Given the description of an element on the screen output the (x, y) to click on. 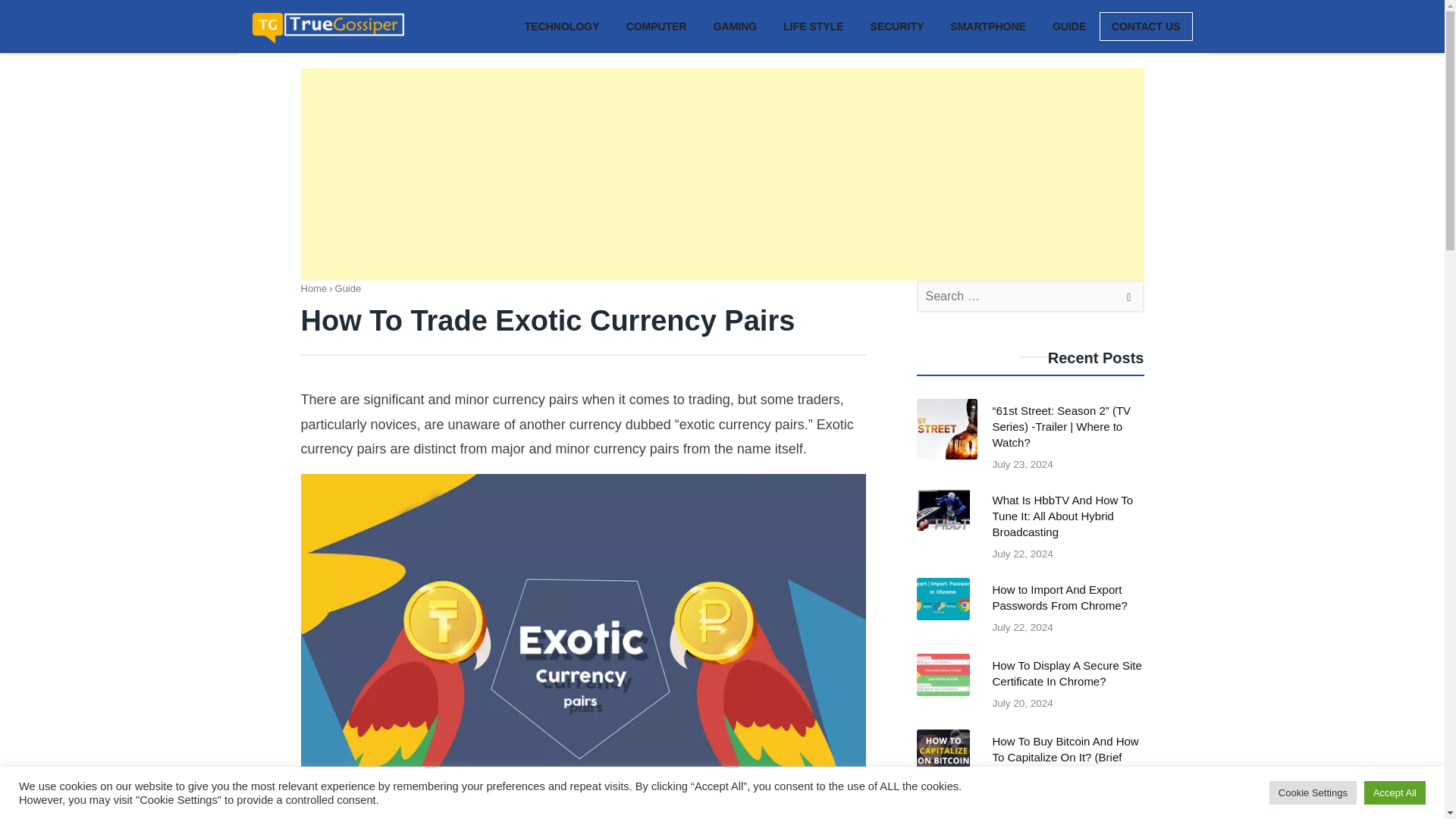
How to Import And Export Passwords From Chrome? (1028, 615)
SMARTPHONE (988, 25)
Home (312, 288)
CONTACT US (1145, 26)
Guide (347, 288)
How To Display A Secure Site Certificate In Chrome? (1028, 691)
TECHNOLOGY (561, 25)
GAMING (735, 25)
COMPUTER (656, 25)
Accept All (1394, 792)
GUIDE (1069, 25)
